Given the description of an element on the screen output the (x, y) to click on. 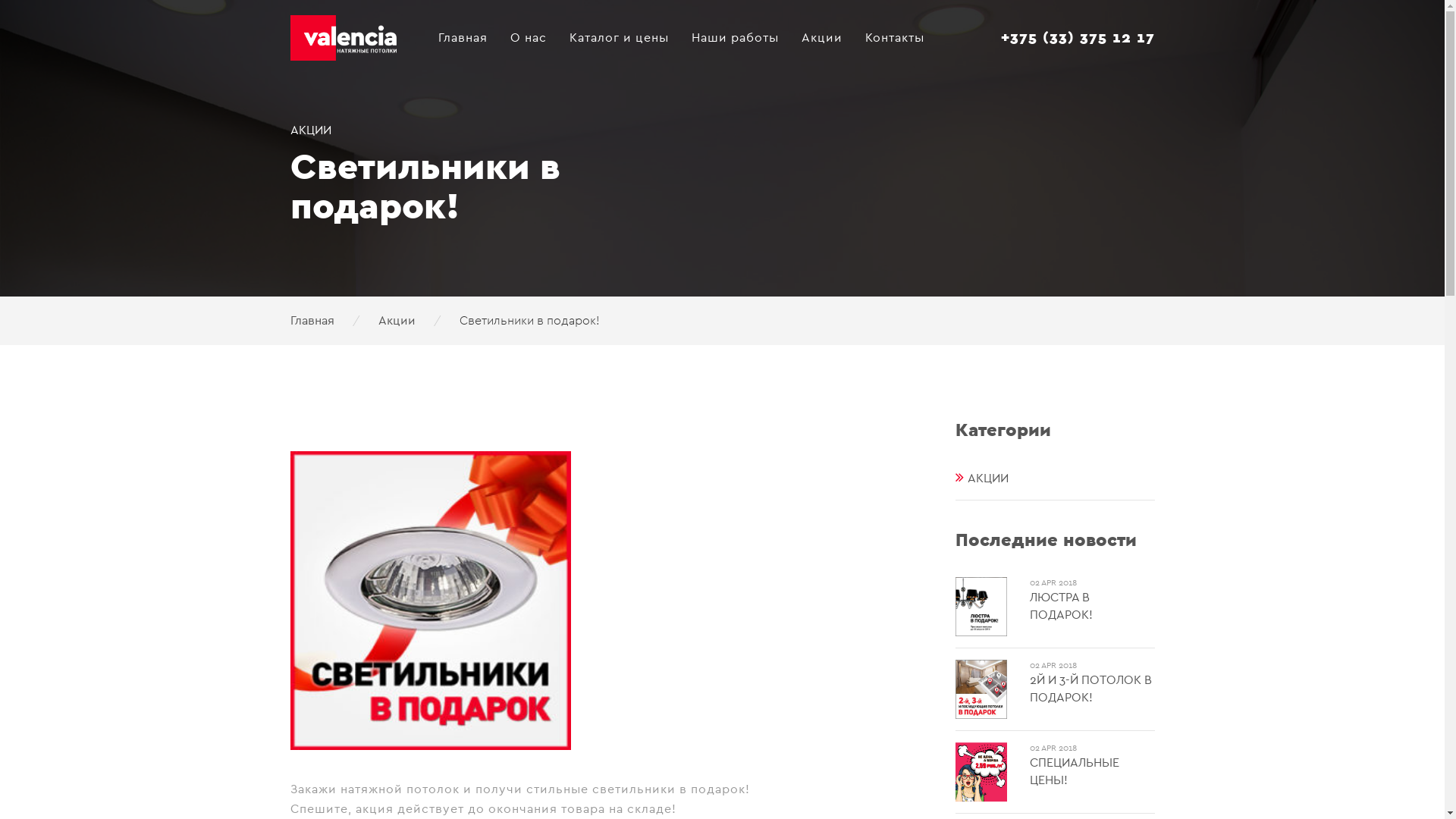
+375 (33) 375 12 17 Element type: text (1076, 37)
Home Element type: hover (352, 18)
